Given the description of an element on the screen output the (x, y) to click on. 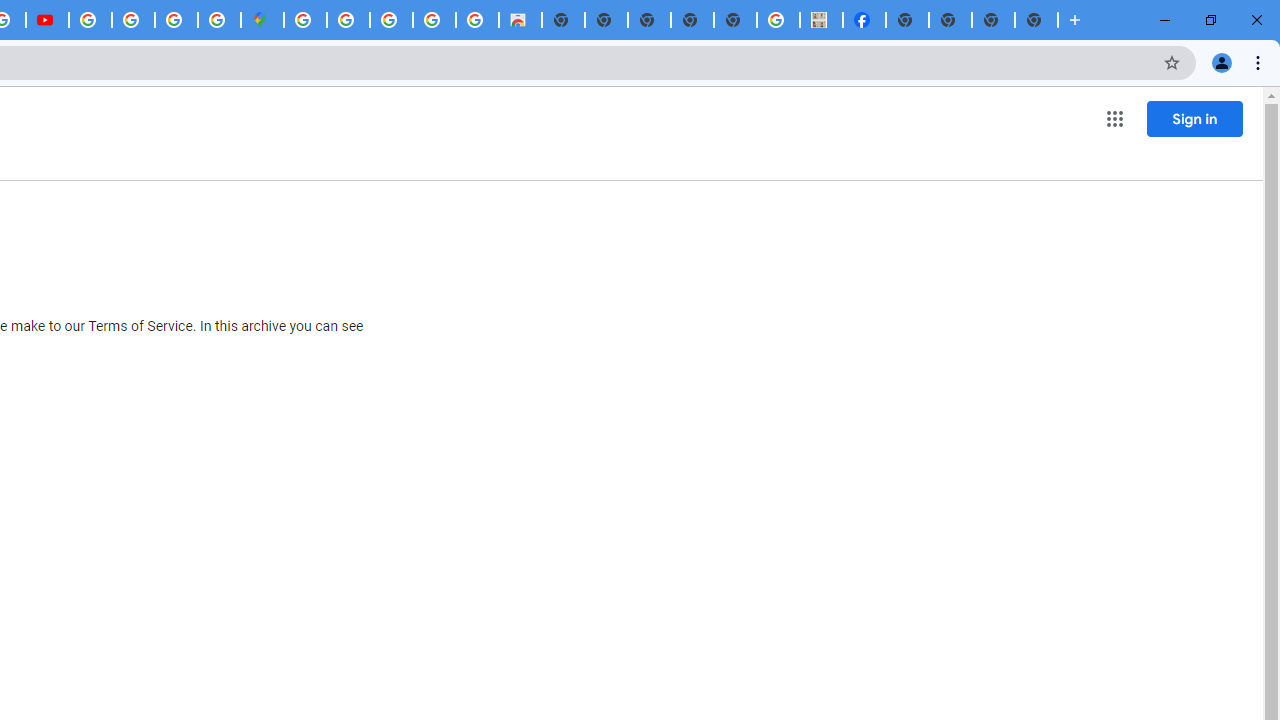
MILEY CYRUS. (821, 20)
New Tab (1036, 20)
Chrome Web Store - Shopping (520, 20)
Sign in - Google Accounts (305, 20)
